Given the description of an element on the screen output the (x, y) to click on. 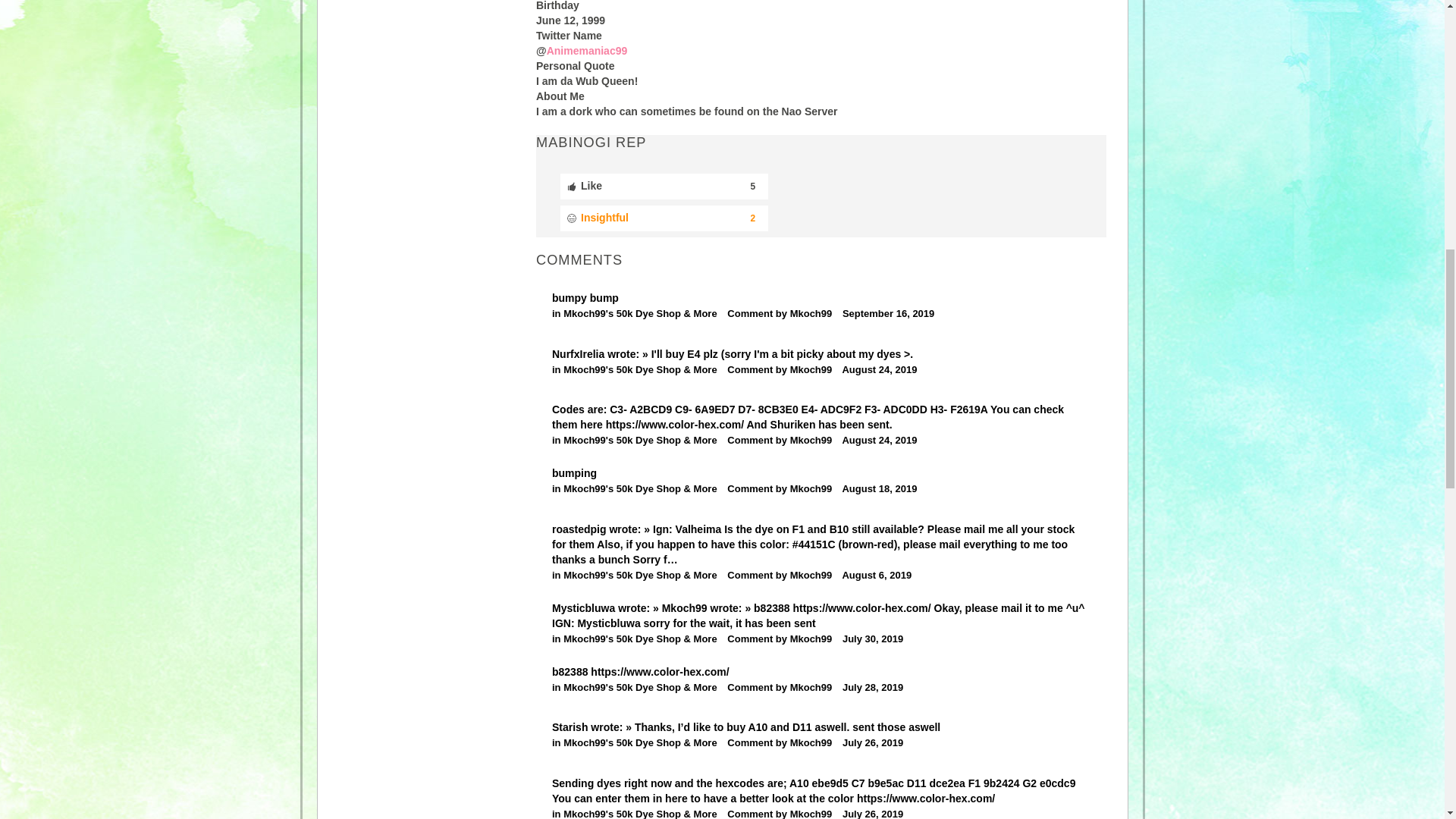
Like (664, 186)
Insightful (664, 218)
